Given the description of an element on the screen output the (x, y) to click on. 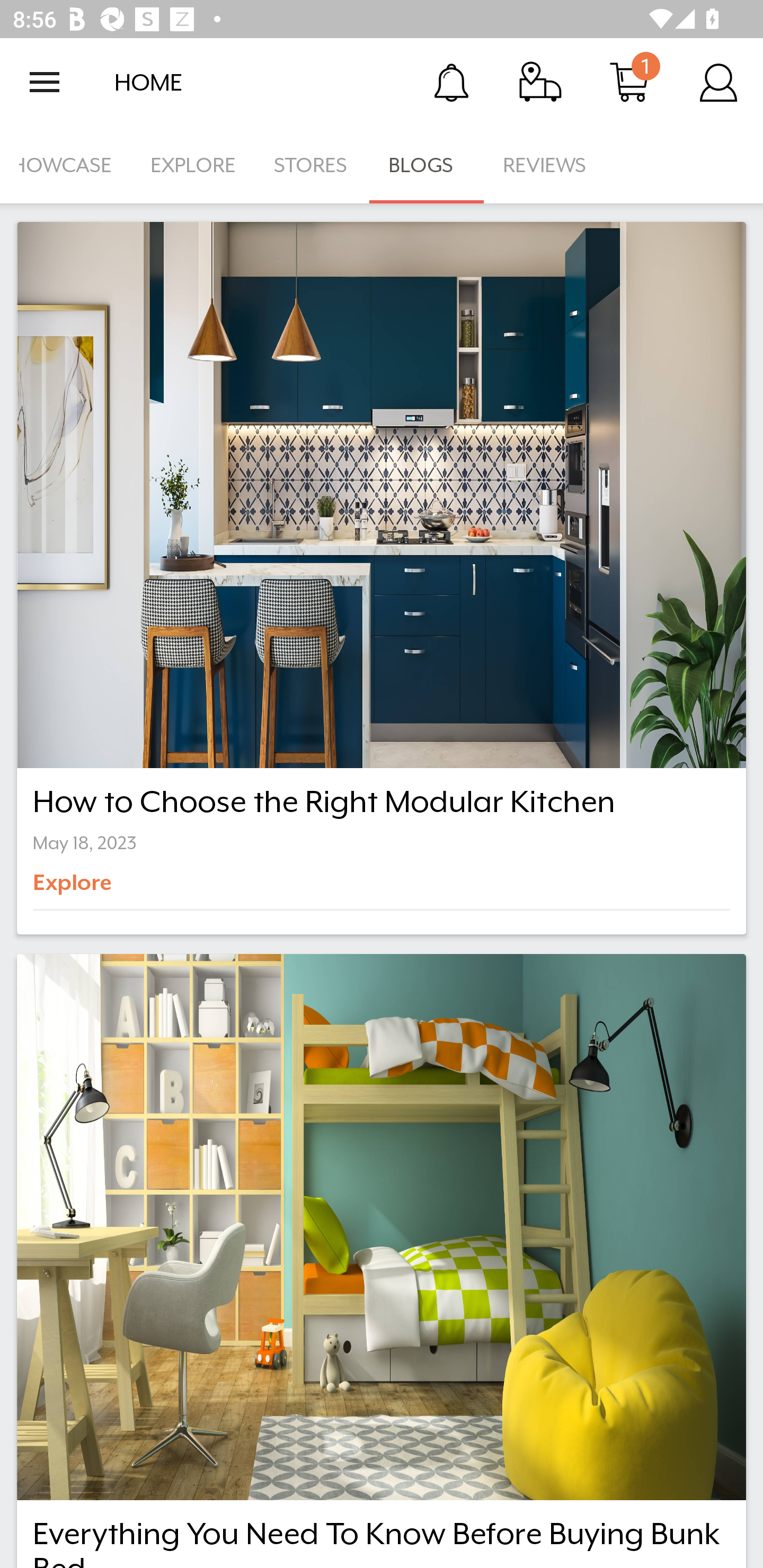
Open navigation drawer (44, 82)
Notification (450, 81)
Track Order (540, 81)
Cart (629, 81)
Account Details (718, 81)
SHOWCASE (65, 165)
EXPLORE (192, 165)
STORES (311, 165)
BLOGS (426, 165)
REVIEWS (544, 165)
Explore (102, 888)
Everything You Need To Know Before Buying Bunk Bed (381, 1260)
